Given the description of an element on the screen output the (x, y) to click on. 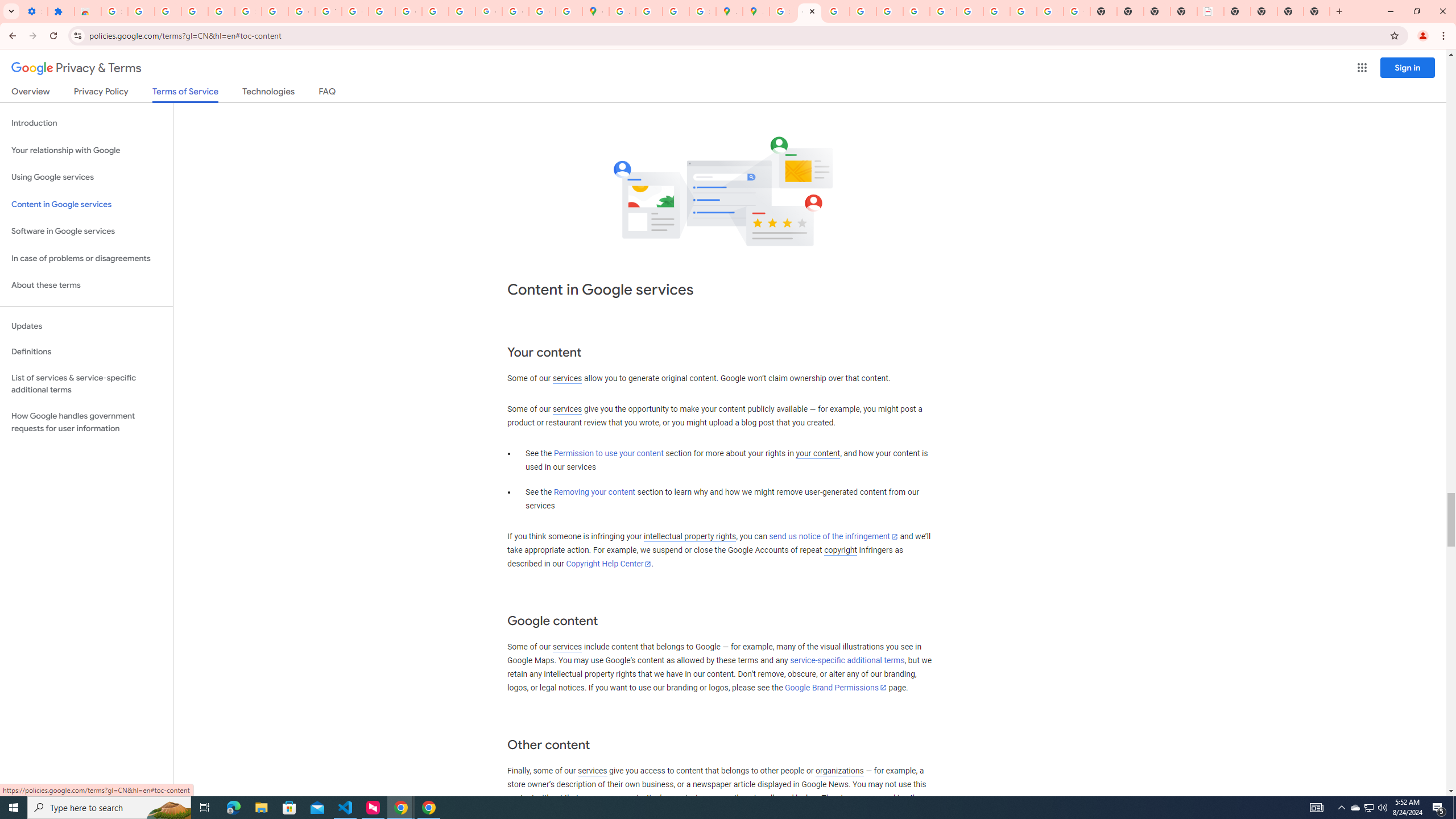
Safety in Our Products - Google Safety Center (702, 11)
https://scholar.google.com/ (382, 11)
Privacy Help Center - Policies Help (862, 11)
intellectual property rights (689, 536)
Settings - On startup (34, 11)
